Given the description of an element on the screen output the (x, y) to click on. 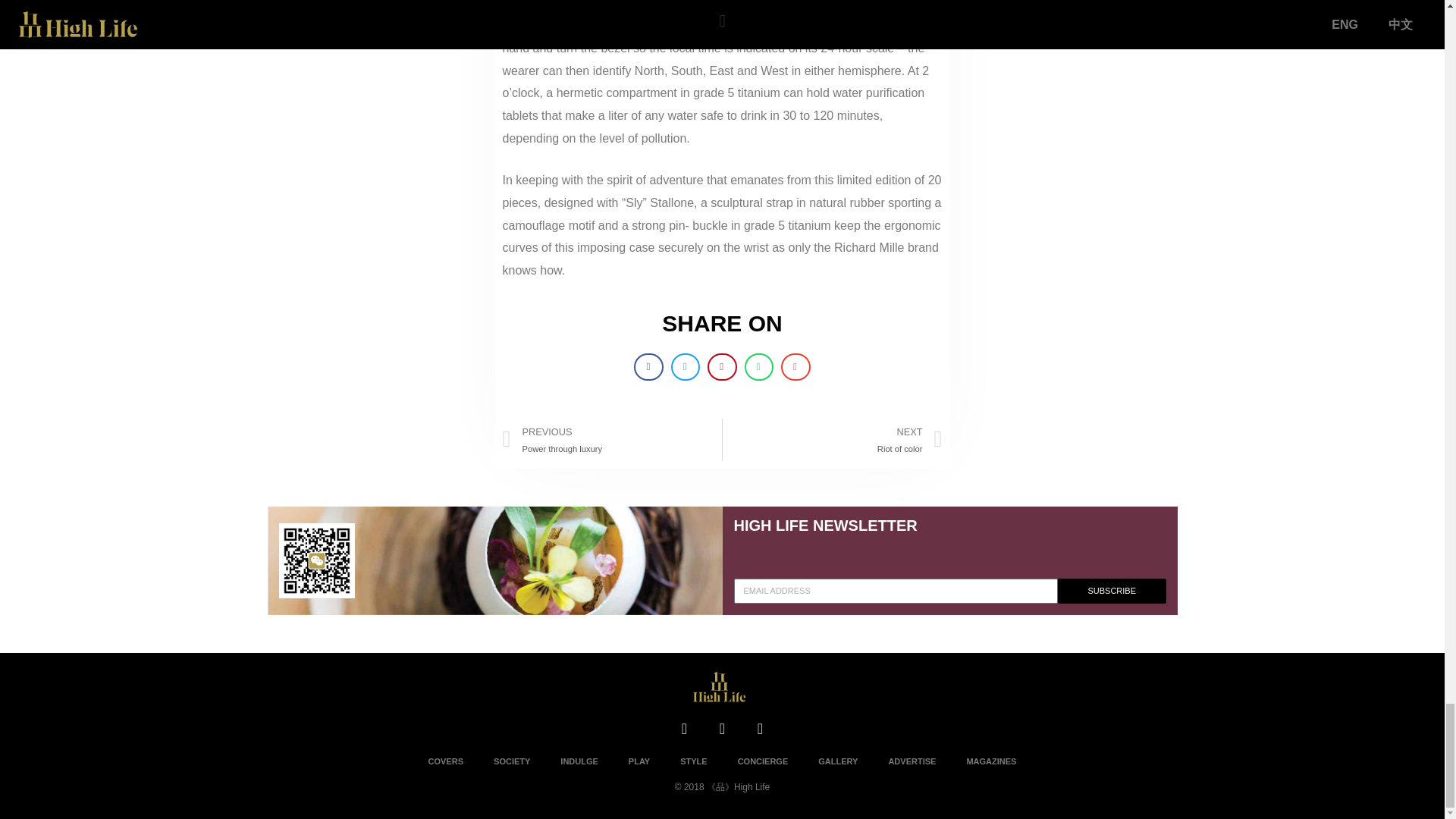
SUBSCRIBE (1112, 590)
Weixin (832, 439)
Instagram (683, 728)
